Given the description of an element on the screen output the (x, y) to click on. 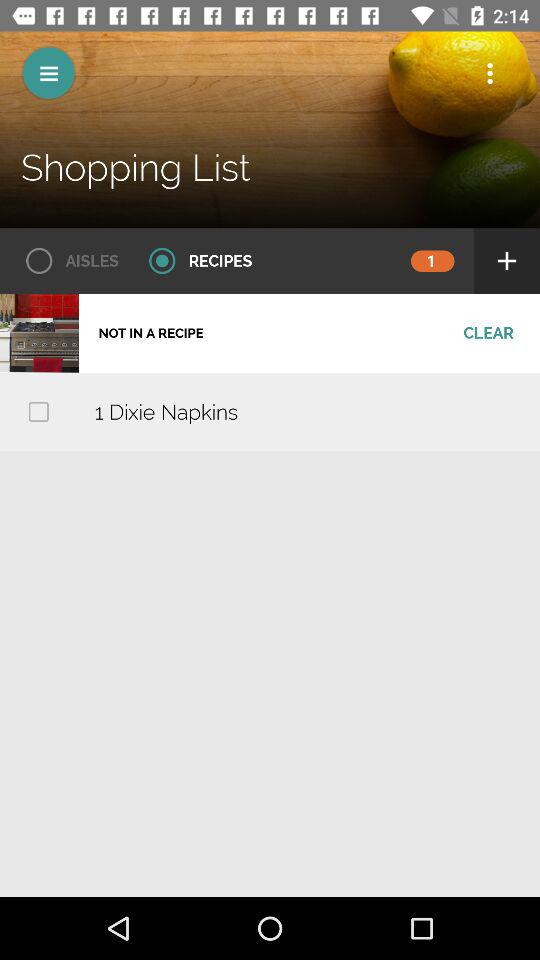
check to choose (38, 411)
